Given the description of an element on the screen output the (x, y) to click on. 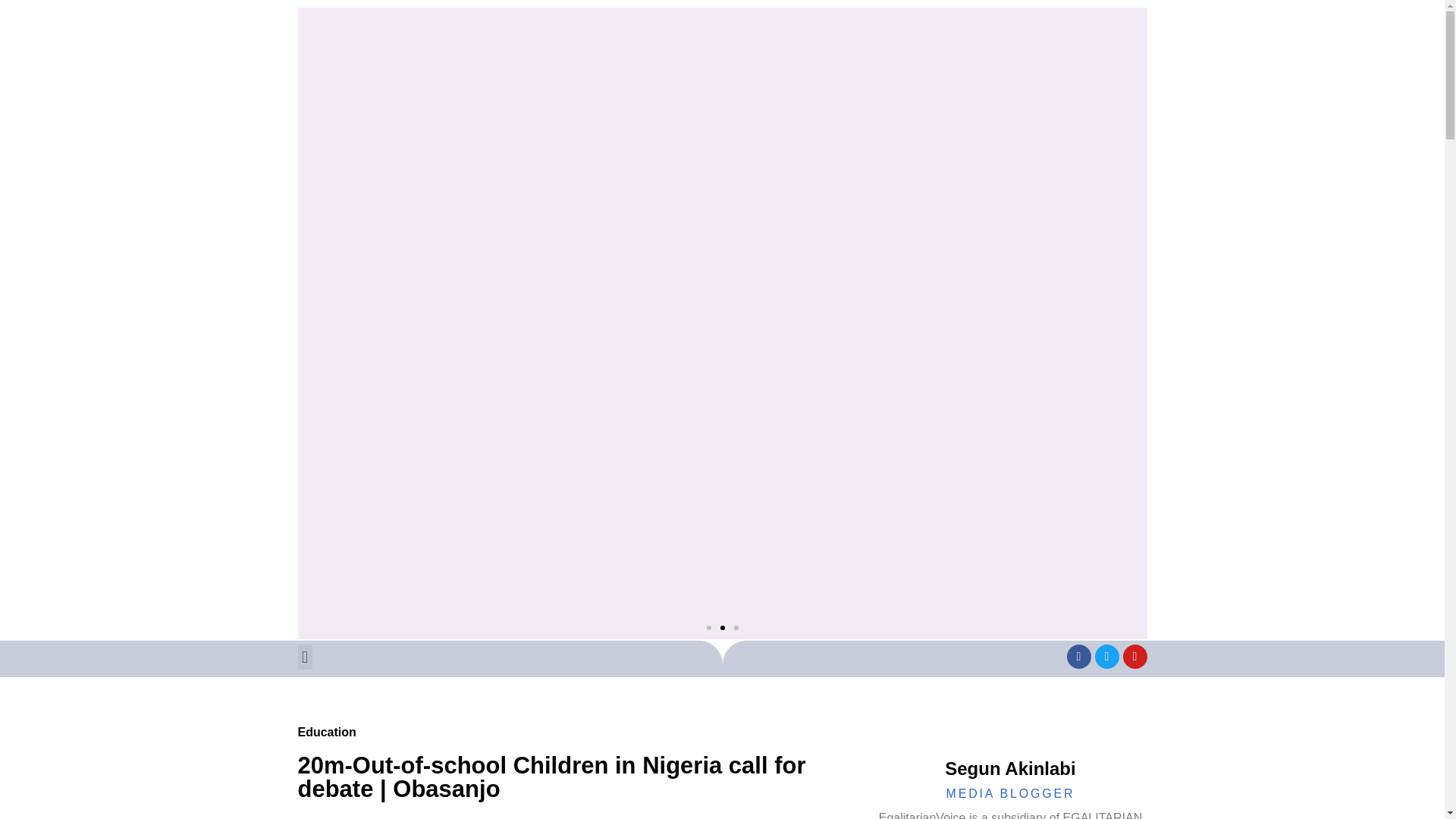
November 23, 2022 (350, 817)
Education (326, 731)
